Given the description of an element on the screen output the (x, y) to click on. 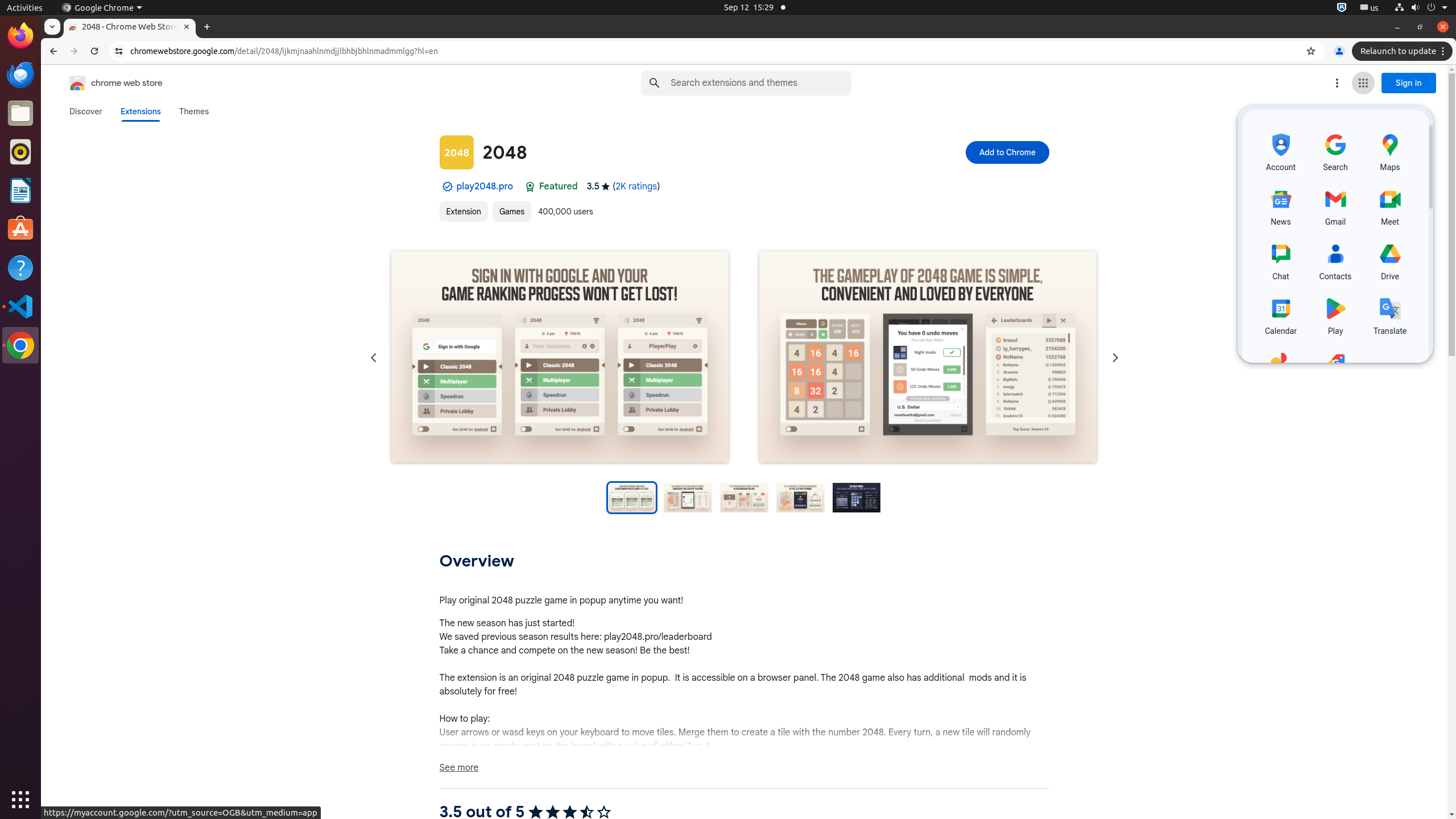
Google Chrome Element type: menu (101, 7)
Search, row 1 of 5 and column 2 of 3 in the first section (opens a new tab) Element type: link (1335, 150)
Chrome Web Store logo chrome web store Element type: link (103, 82)
Item media 2 screenshot Element type: push-button (927, 357)
Preview slide 5 Element type: push-button (856, 497)
